Given the description of an element on the screen output the (x, y) to click on. 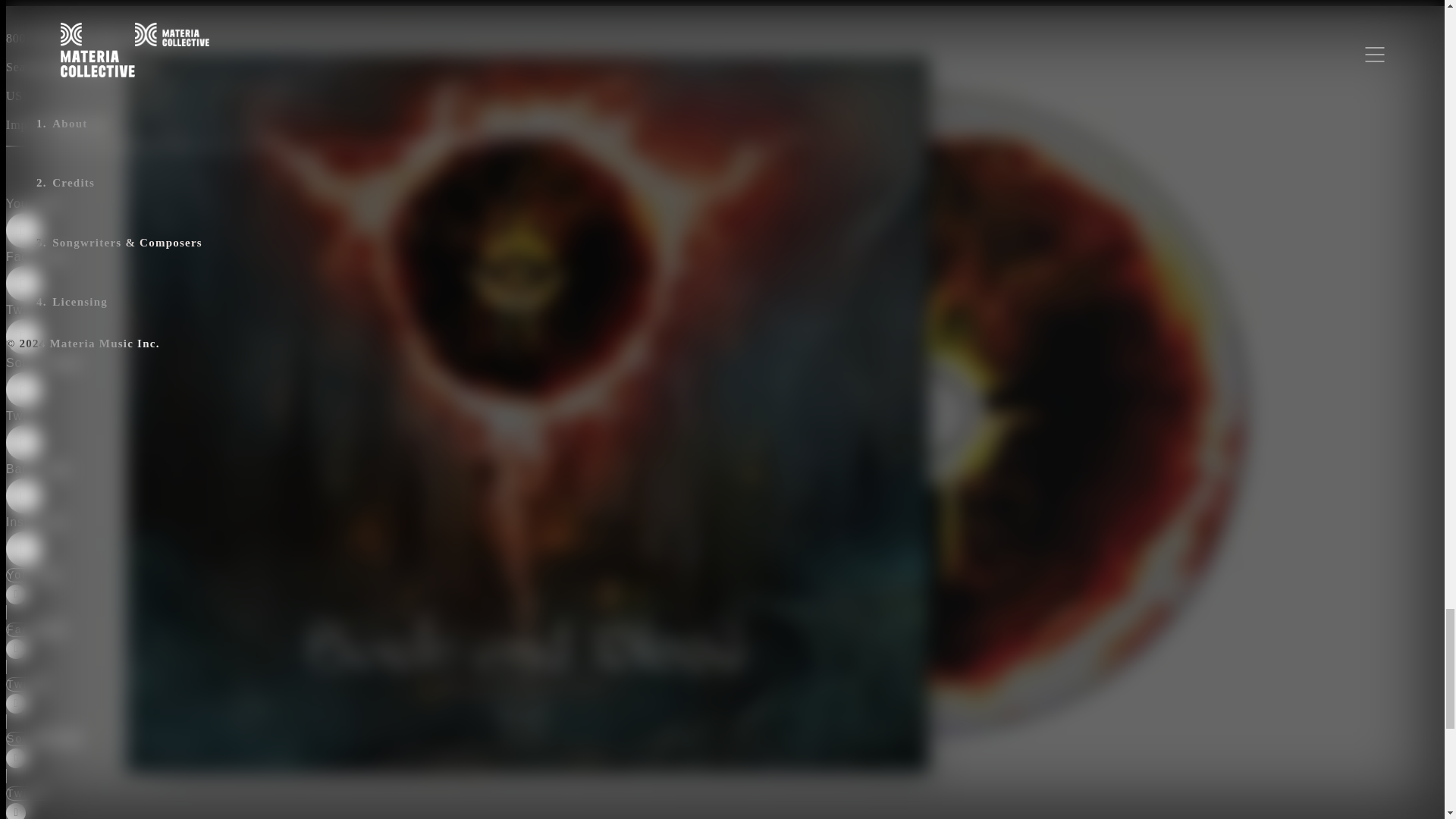
Twitch (91, 802)
Bandcamp (263, 495)
SoundCloud (263, 389)
Twitter (91, 702)
Facebook (91, 648)
SoundCloud (91, 757)
Instagram (263, 540)
Twitter (263, 336)
Facebook (263, 283)
YouTube (263, 229)
